Given the description of an element on the screen output the (x, y) to click on. 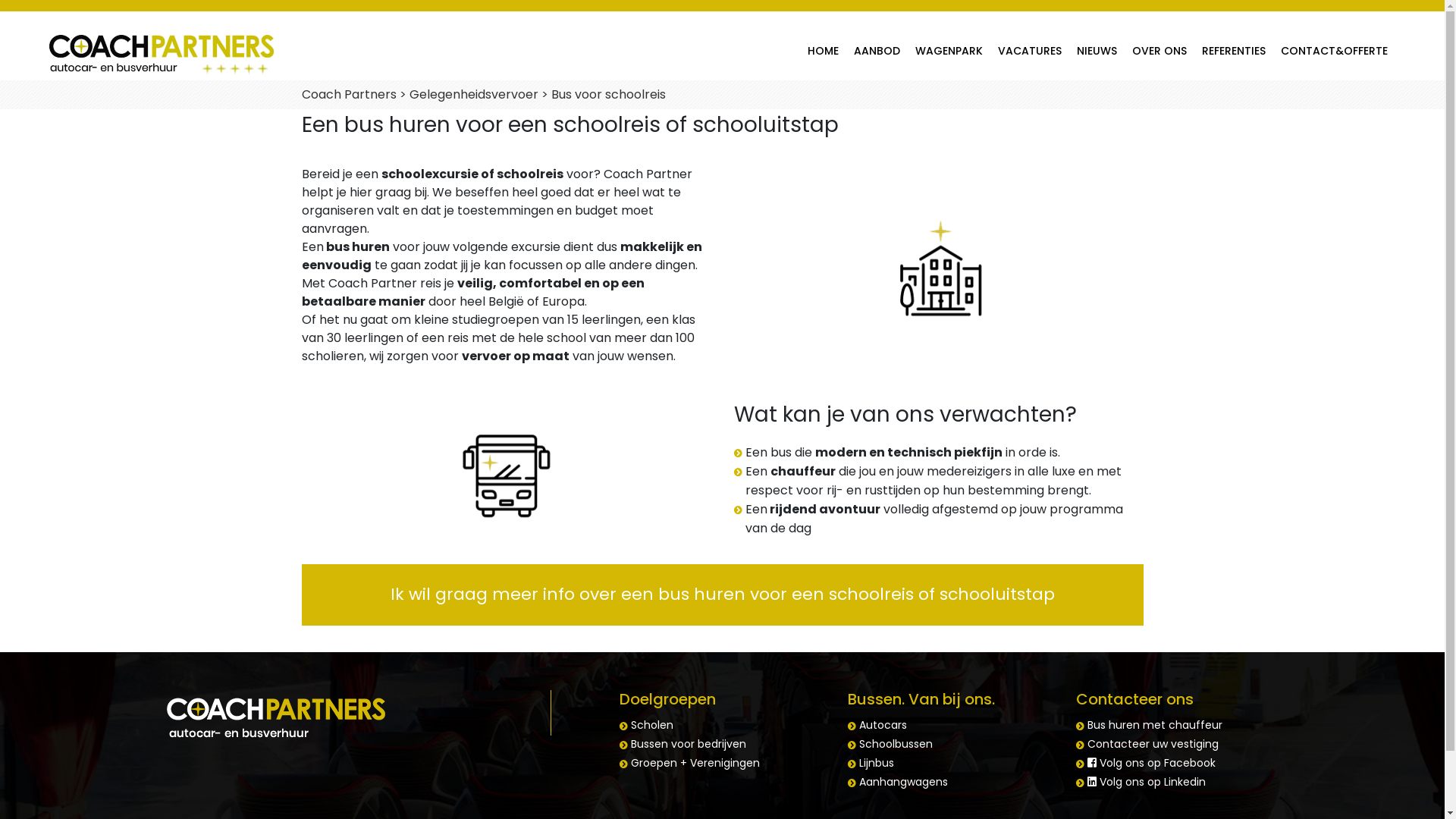
VACATURES Element type: text (1029, 50)
CONTACT&OFFERTE Element type: text (1334, 50)
HOME Element type: text (823, 50)
Autocars Element type: text (882, 724)
Volg ons op Facebook Element type: text (1151, 762)
Scholen Element type: text (651, 724)
Schoolbussen Element type: text (895, 743)
Aanhangwagens Element type: text (903, 781)
Groepen + Verenigingen Element type: text (694, 762)
Gelegenheidsvervoer Element type: text (473, 94)
AANBOD Element type: text (876, 50)
NIEUWS Element type: text (1096, 50)
WAGENPARK Element type: text (948, 50)
Bussen voor bedrijven Element type: text (688, 743)
Volg ons op Linkedin Element type: text (1146, 781)
Coach Partners Element type: text (348, 94)
OVER ONS Element type: text (1159, 50)
REFERENTIES Element type: text (1233, 50)
Contacteer uw vestiging Element type: text (1152, 743)
Lijnbus Element type: text (876, 762)
Bus huren met chauffeur Element type: text (1154, 724)
